Given the description of an element on the screen output the (x, y) to click on. 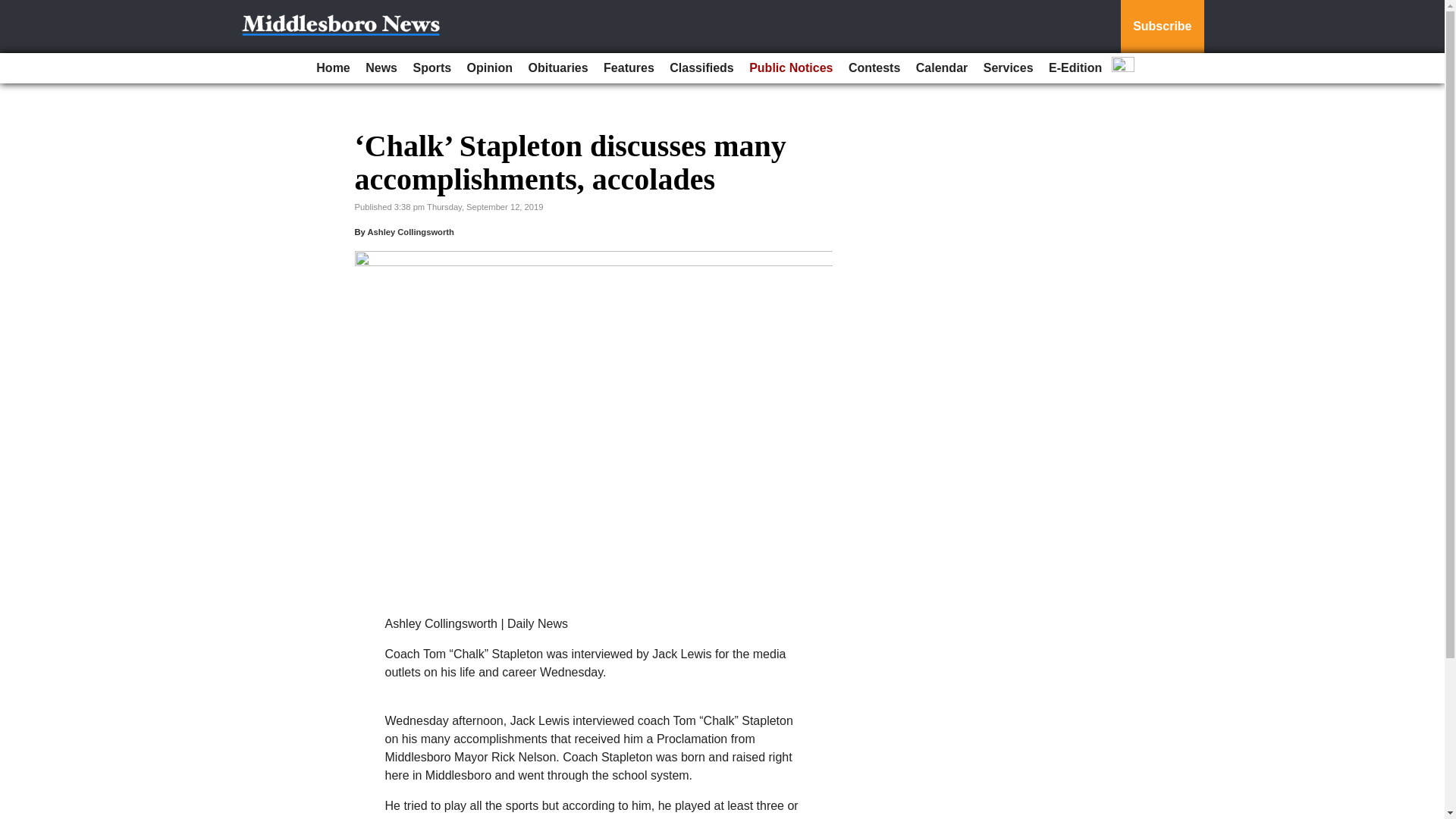
Services (1007, 68)
Features (628, 68)
Classifieds (701, 68)
Home (332, 68)
Subscribe (1162, 26)
E-Edition (1075, 68)
Public Notices (790, 68)
Go (13, 9)
Calendar (942, 68)
Opinion (489, 68)
